Given the description of an element on the screen output the (x, y) to click on. 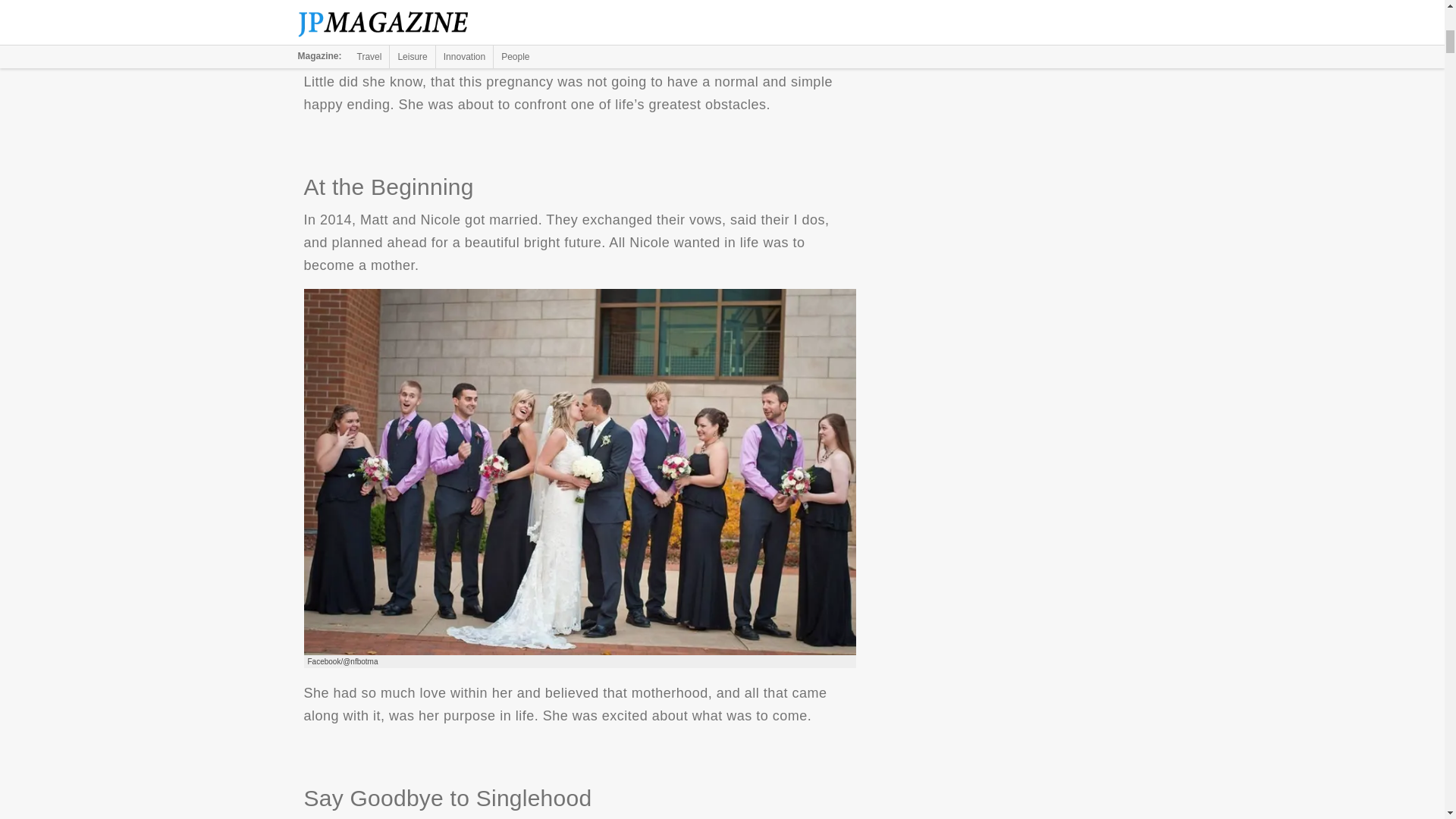
Say Goodbye to Singlehood (579, 22)
